Given the description of an element on the screen output the (x, y) to click on. 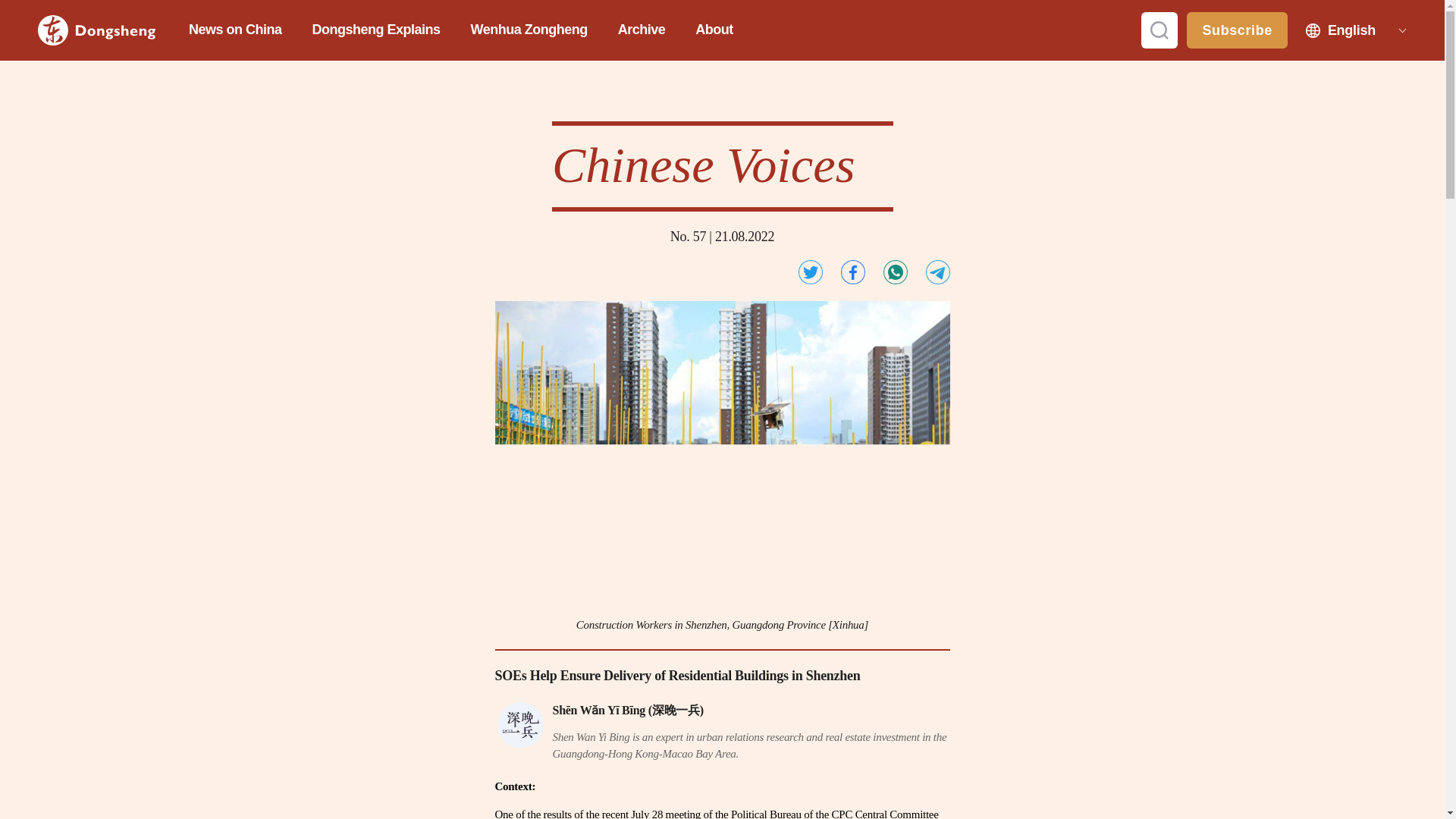
News on China (235, 30)
Archive (641, 30)
Dongsheng Explains (377, 30)
English (1351, 29)
Subscribe (1236, 30)
Wenhua Zongheng (529, 30)
